Given the description of an element on the screen output the (x, y) to click on. 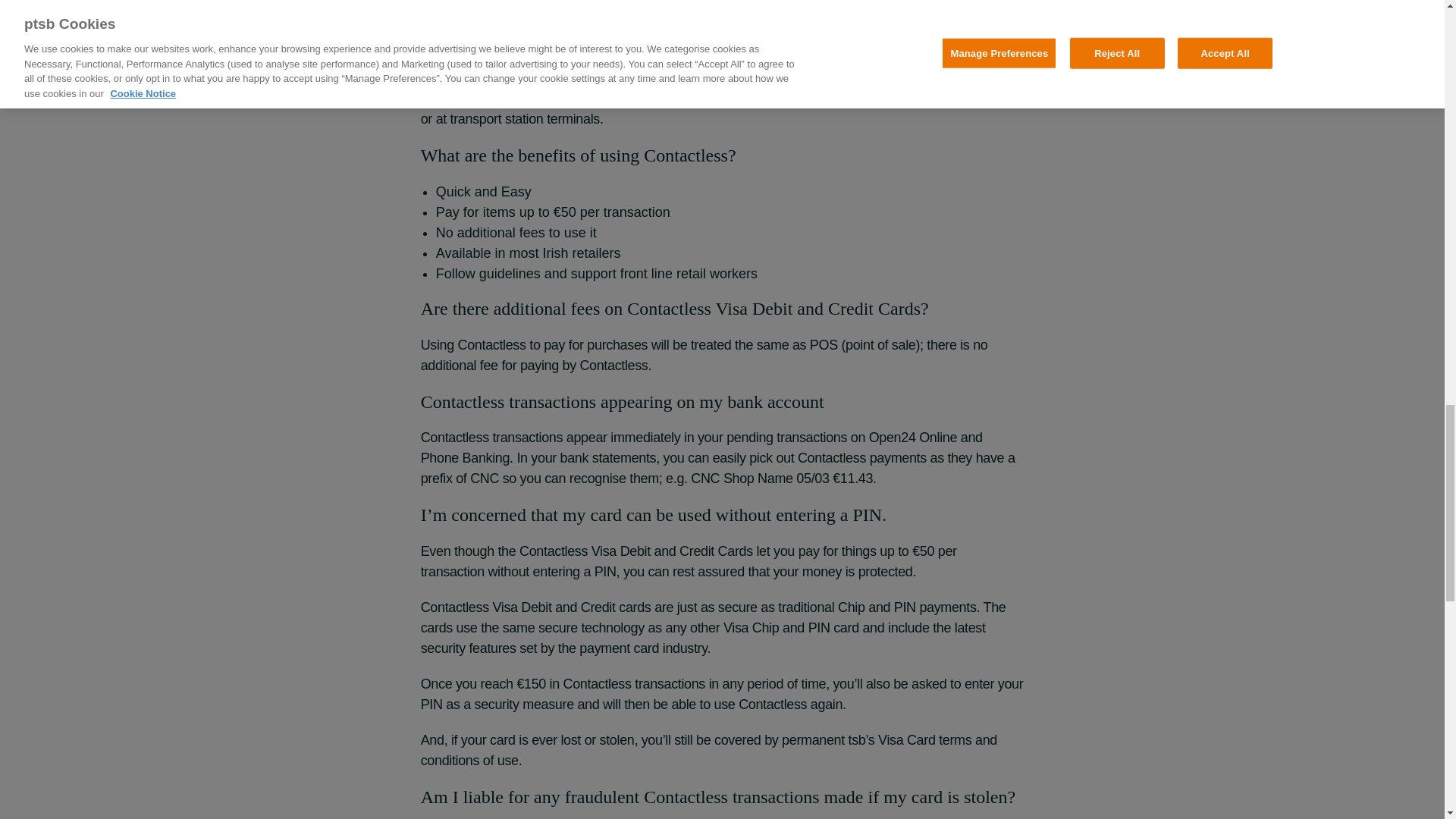
Visa Card terms and conditions of use. (708, 750)
